Given the description of an element on the screen output the (x, y) to click on. 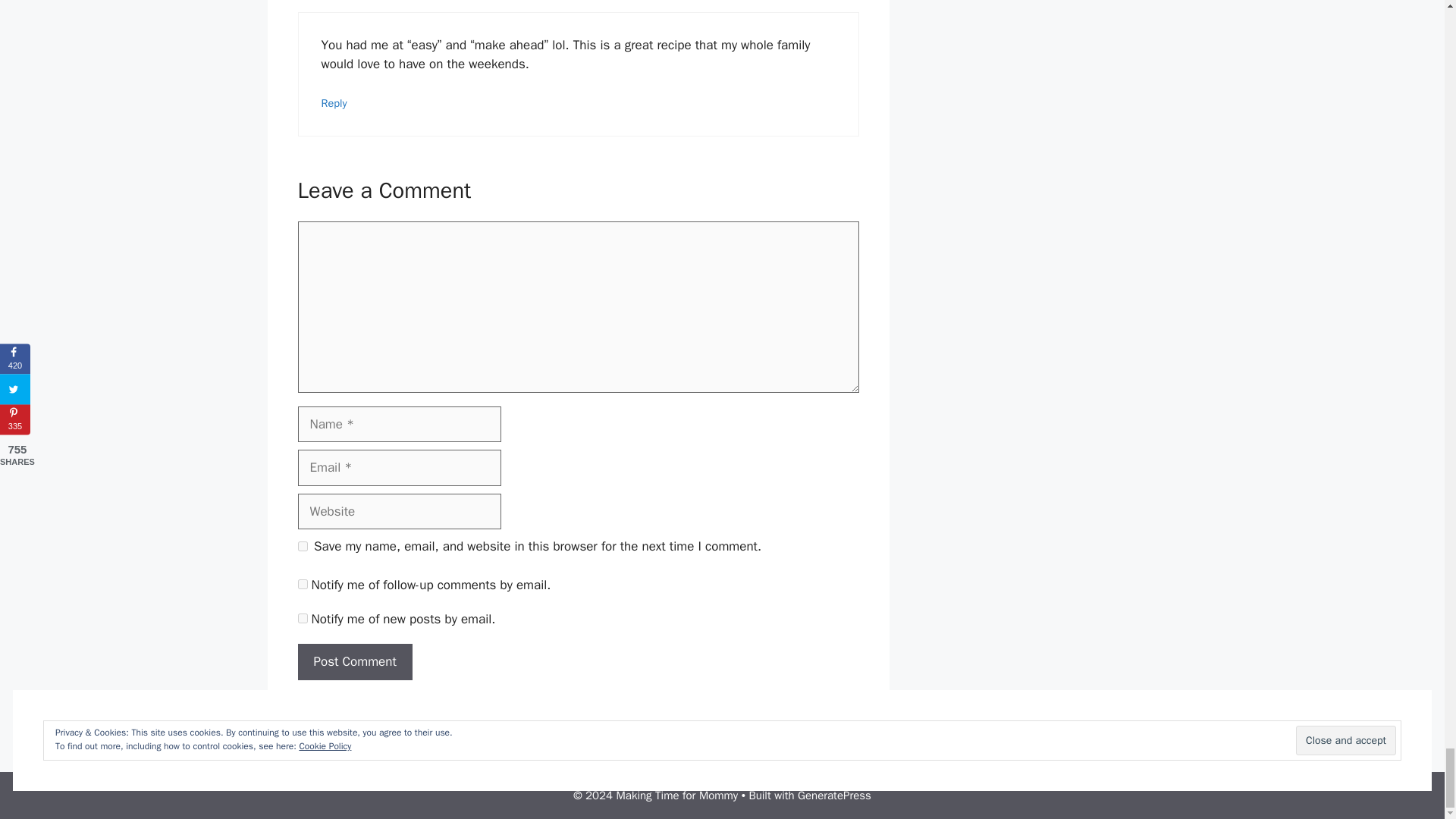
Post Comment (354, 661)
subscribe (302, 618)
yes (302, 546)
subscribe (302, 583)
